Given the description of an element on the screen output the (x, y) to click on. 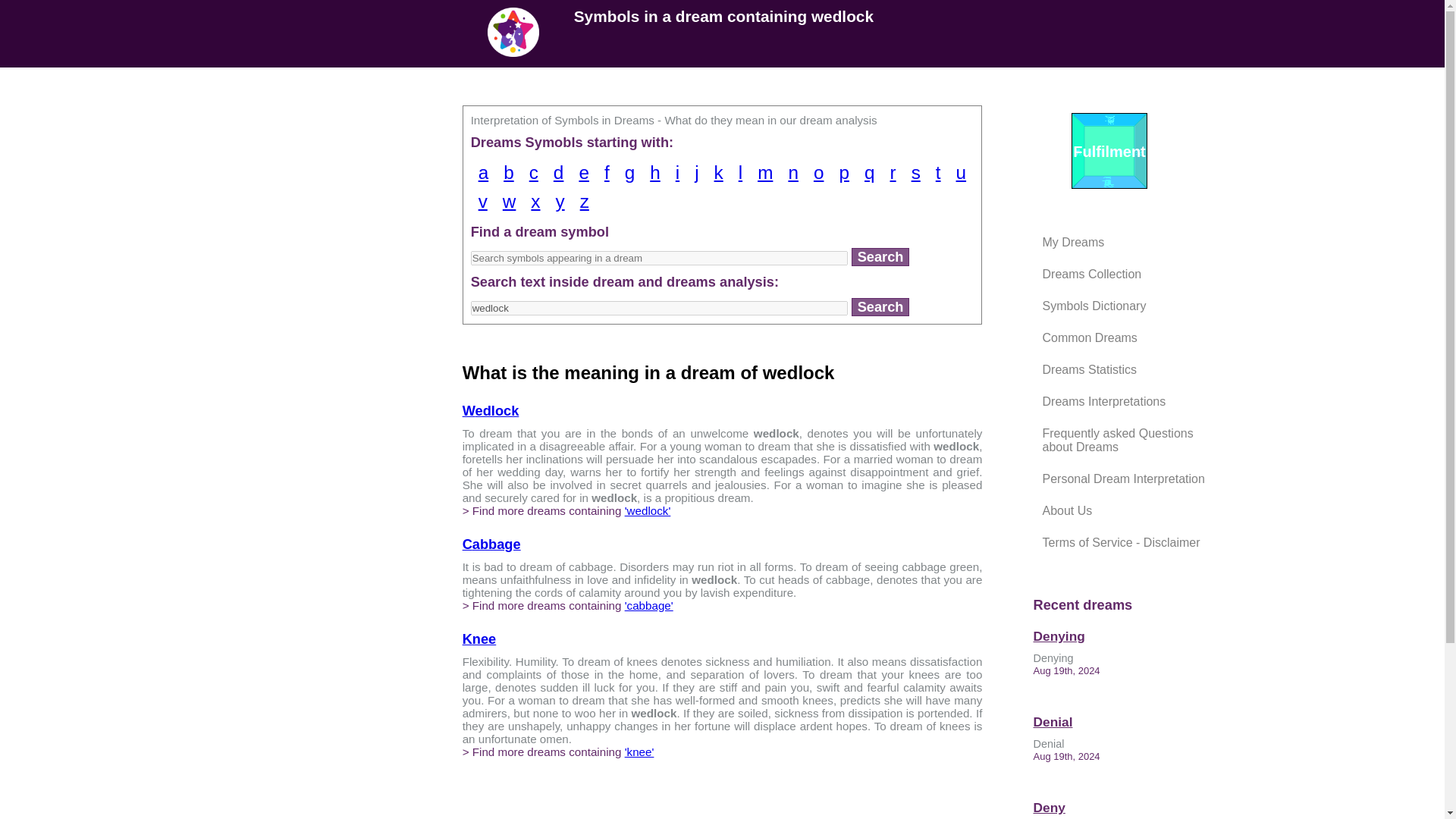
q (869, 172)
wedlock (659, 308)
Interpretation of the symbol in a dream cabbage (492, 544)
What is the meaning in a dream of Denying (1133, 636)
h (655, 172)
'cabbage' (648, 604)
o (818, 172)
Search (880, 257)
wedlock (659, 308)
m (764, 172)
